Given the description of an element on the screen output the (x, y) to click on. 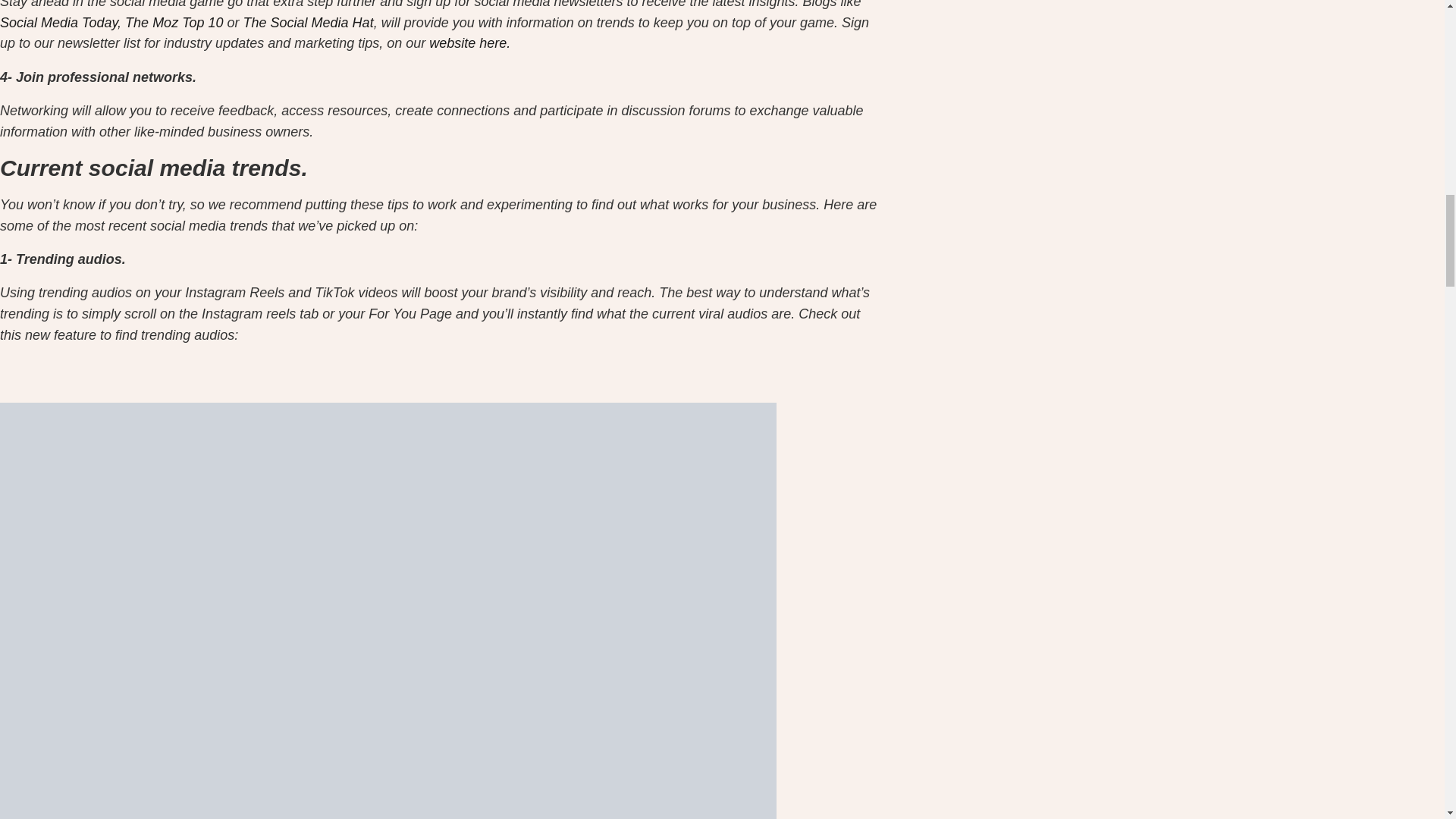
The Social Media Hat (308, 22)
The Moz Top 10 (173, 22)
website here. (470, 43)
Social Media Today (58, 22)
